Given the description of an element on the screen output the (x, y) to click on. 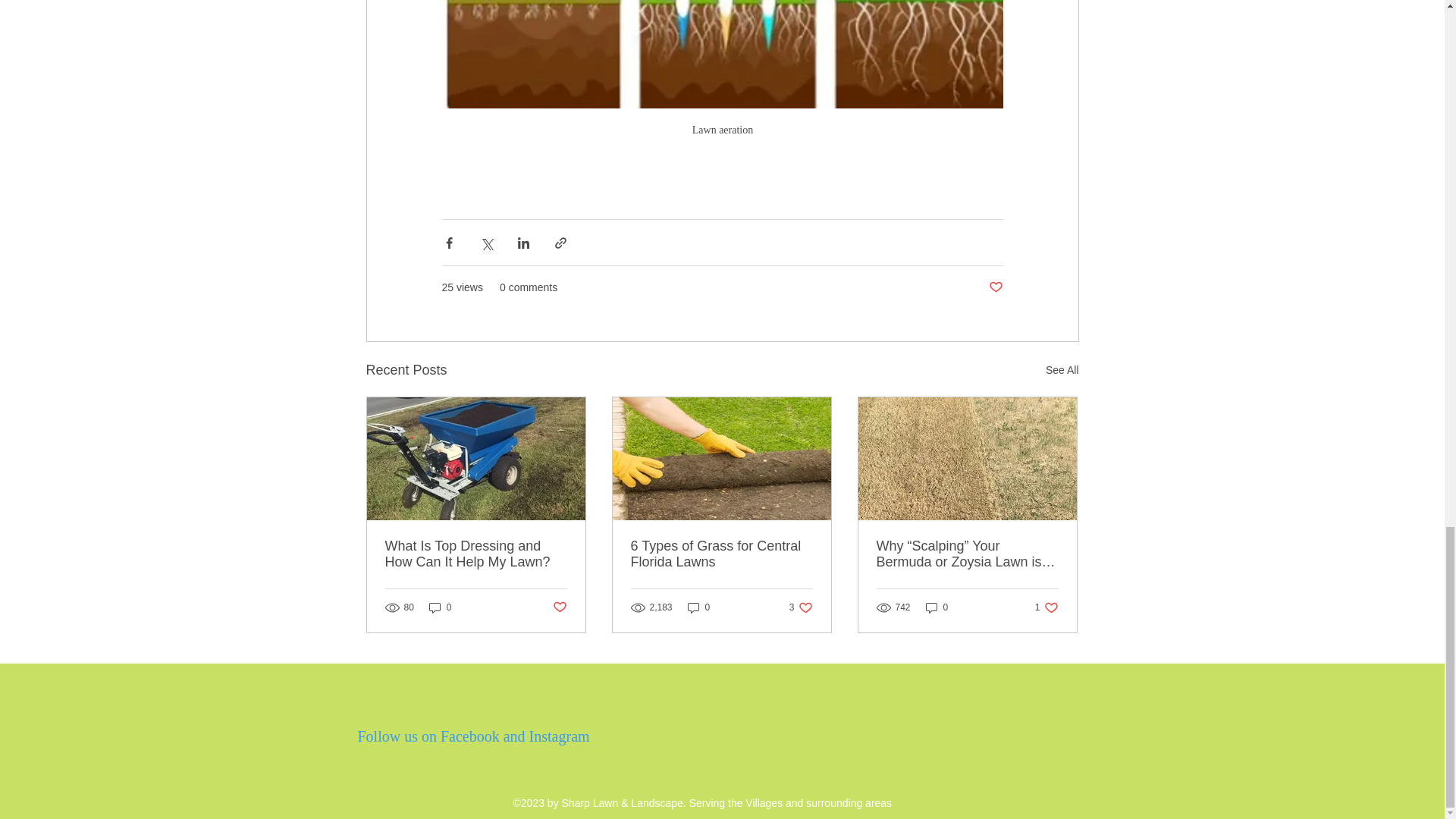
See All (1061, 370)
Post not marked as liked (800, 607)
What Is Top Dressing and How Can It Help My Lawn? (558, 607)
6 Types of Grass for Central Florida Lawns (476, 554)
0 (721, 554)
Post not marked as liked (698, 607)
0 (995, 287)
0 (440, 607)
